Given the description of an element on the screen output the (x, y) to click on. 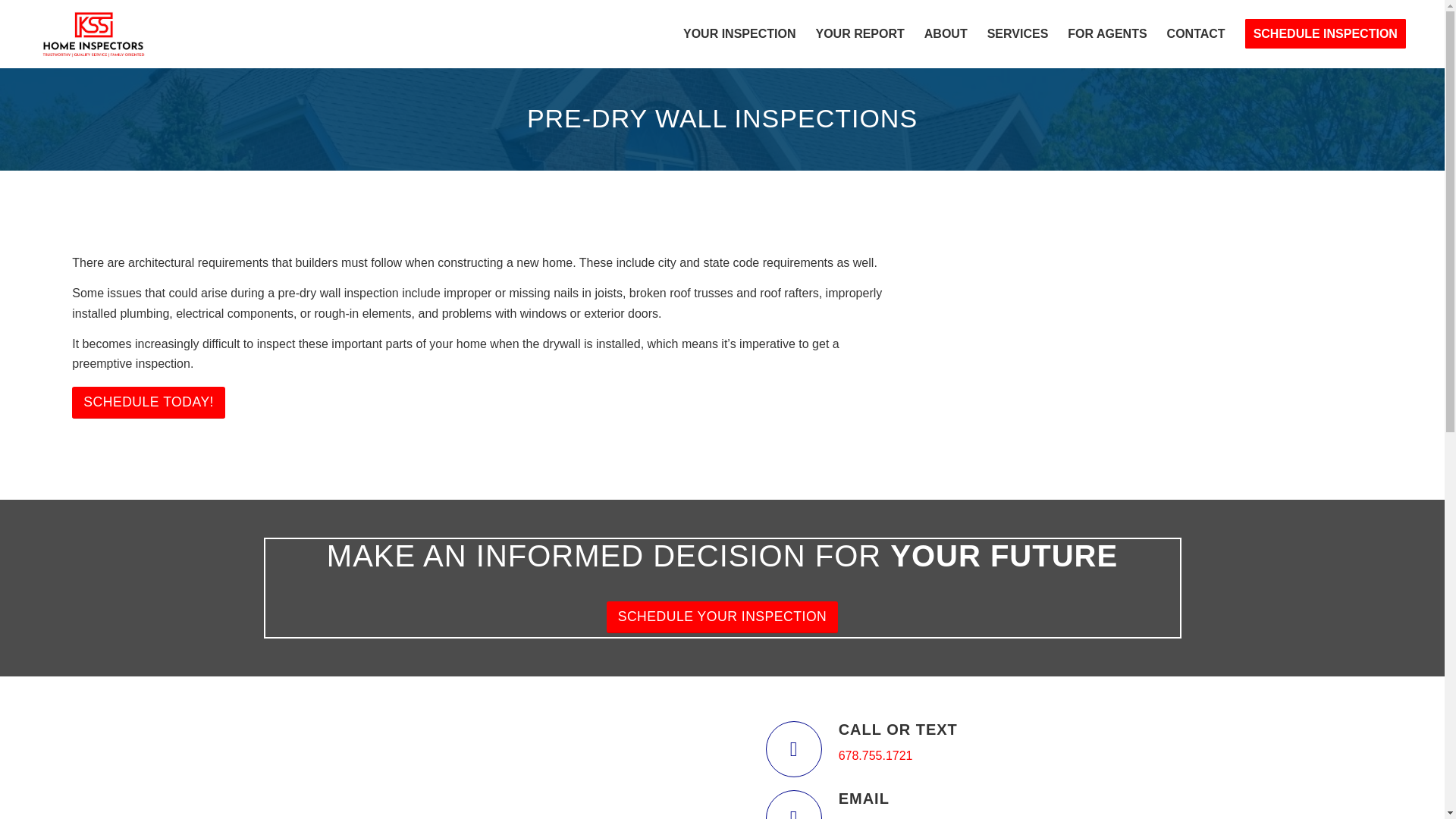
CONTACT (1195, 33)
YOUR REPORT (859, 33)
Email (793, 804)
CALL OR TEXT (898, 729)
Call or Text (898, 729)
EMAIL (863, 798)
SCHEDULE INSPECTION (1324, 33)
Call or Text (793, 749)
FOR AGENTS (1107, 33)
678.755.1721 (875, 755)
Email (863, 798)
SERVICES (1017, 33)
SCHEDULE TODAY! (148, 402)
ABOUT (945, 33)
YOUR INSPECTION (738, 33)
